Given the description of an element on the screen output the (x, y) to click on. 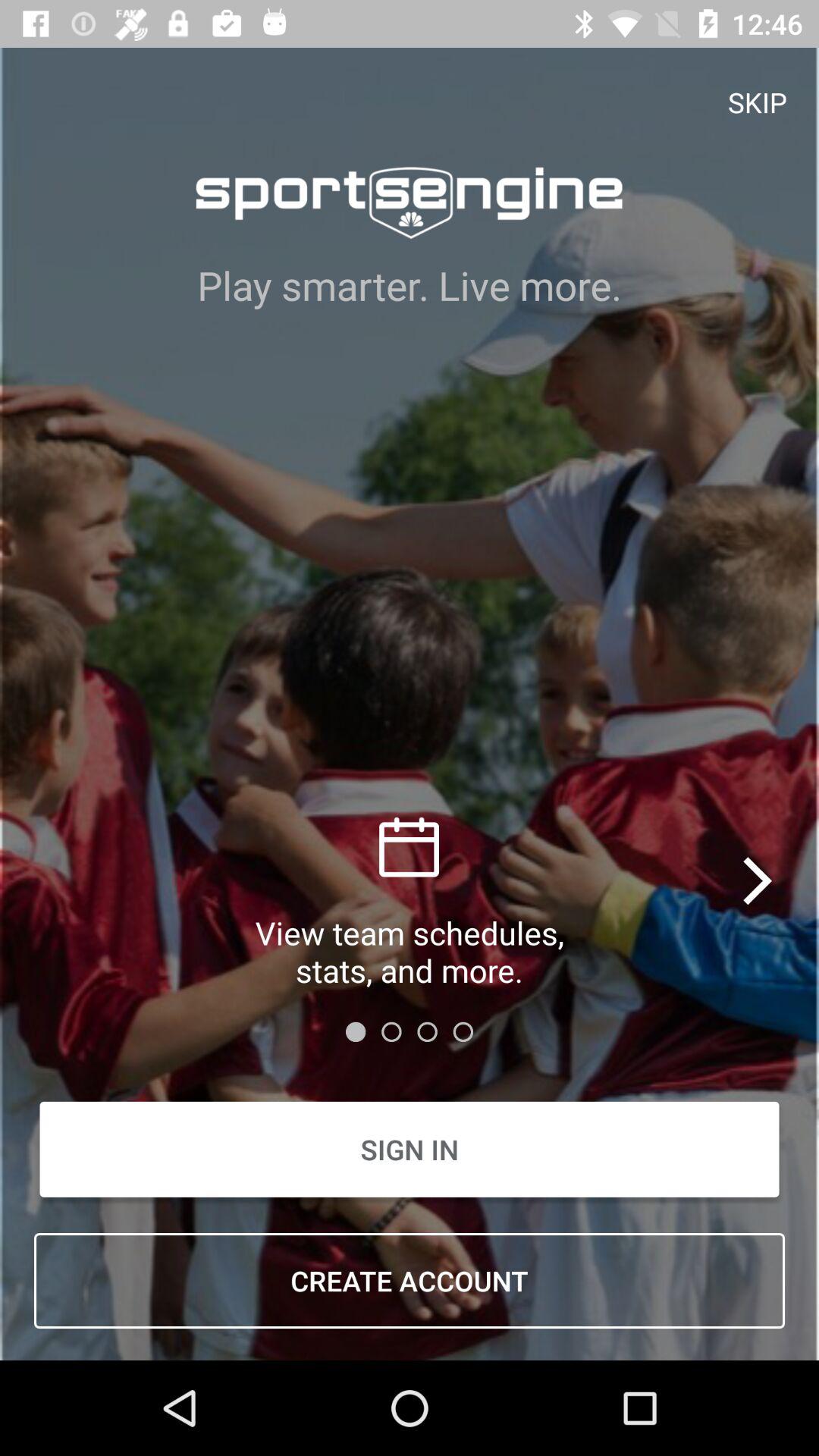
swipe until the create account item (409, 1280)
